Given the description of an element on the screen output the (x, y) to click on. 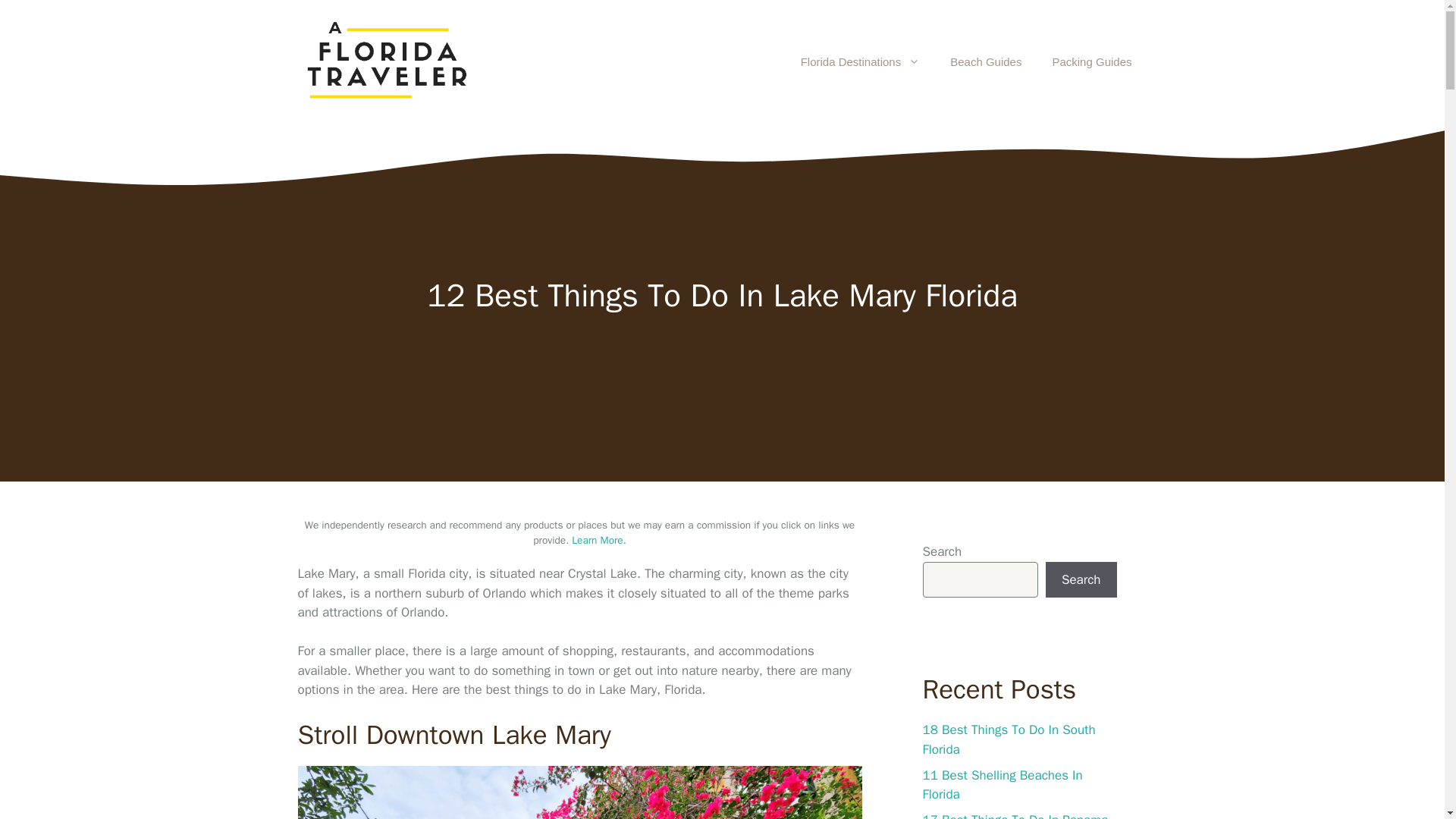
17 Best Things To Do In Panama City Beach Florida (1014, 815)
11 Best Shelling Beaches In Florida (1001, 785)
Florida Destinations (861, 62)
18 Best Things To Do In South Florida (1007, 739)
Learn More. (599, 540)
Search (1080, 579)
Beach Guides (985, 62)
Packing Guides (1091, 62)
